Given the description of an element on the screen output the (x, y) to click on. 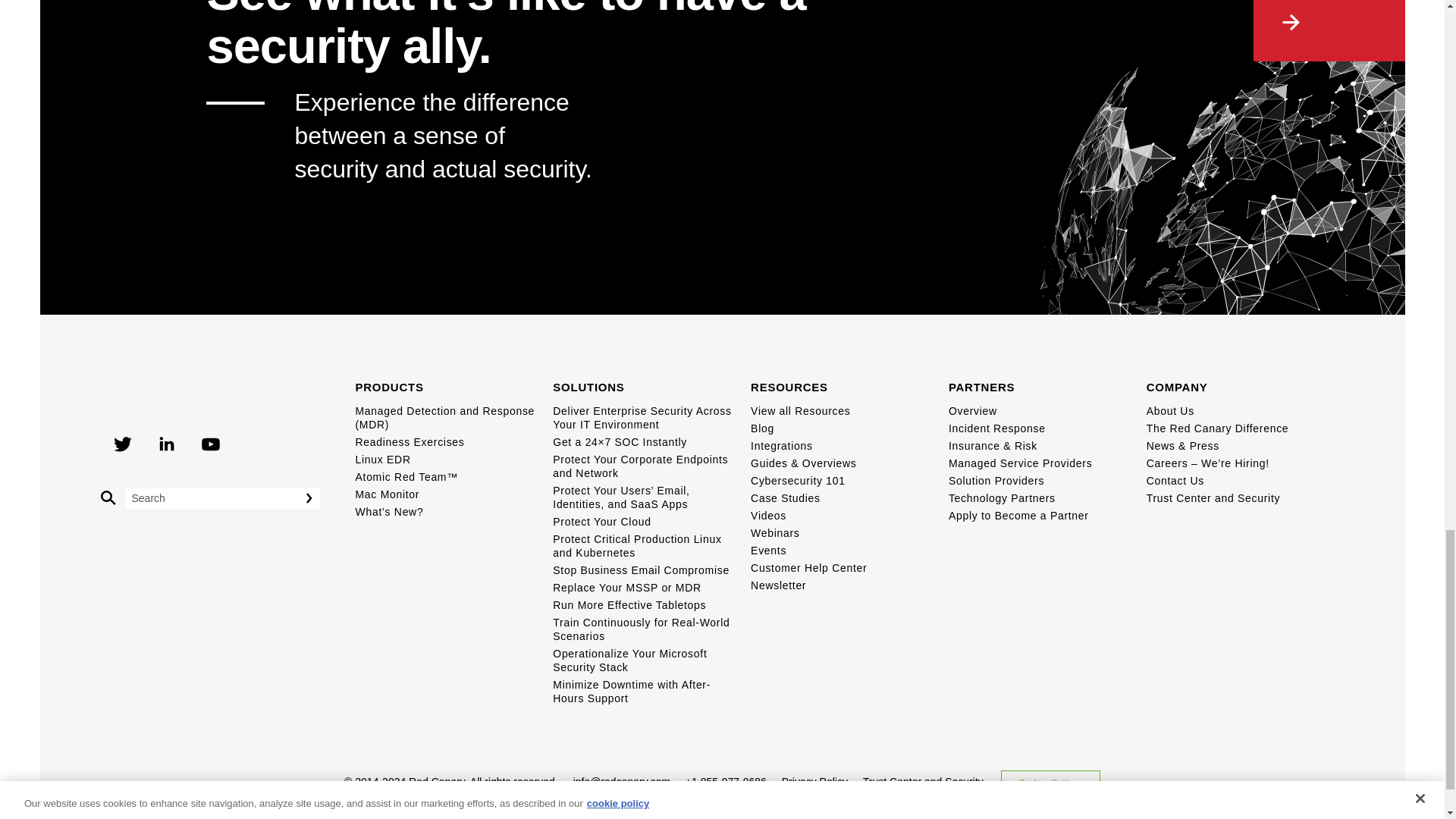
Search (314, 498)
Search (314, 498)
